Given the description of an element on the screen output the (x, y) to click on. 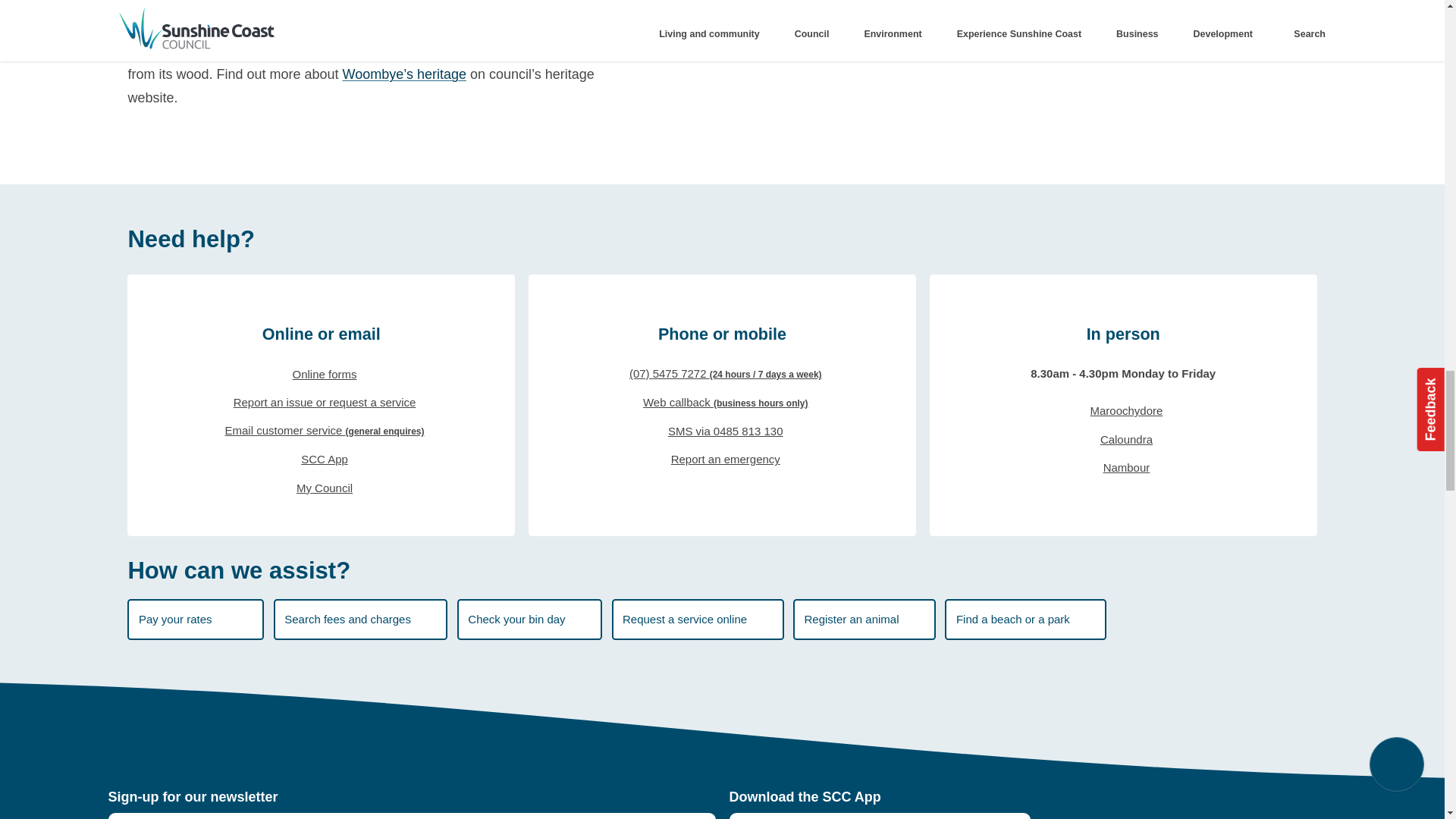
Report an issue or request a service (321, 402)
Search fees and charges (360, 618)
Nambour (1122, 468)
Online forms (321, 374)
Report an emergency (721, 459)
Pay your rates (195, 618)
SCC App (321, 459)
My Council (321, 488)
Maroochydore (1122, 411)
SMS via 0485 813 130 (721, 430)
Online forms (321, 374)
Caloundra (1122, 439)
Report an issue or request a service (321, 402)
